Given the description of an element on the screen output the (x, y) to click on. 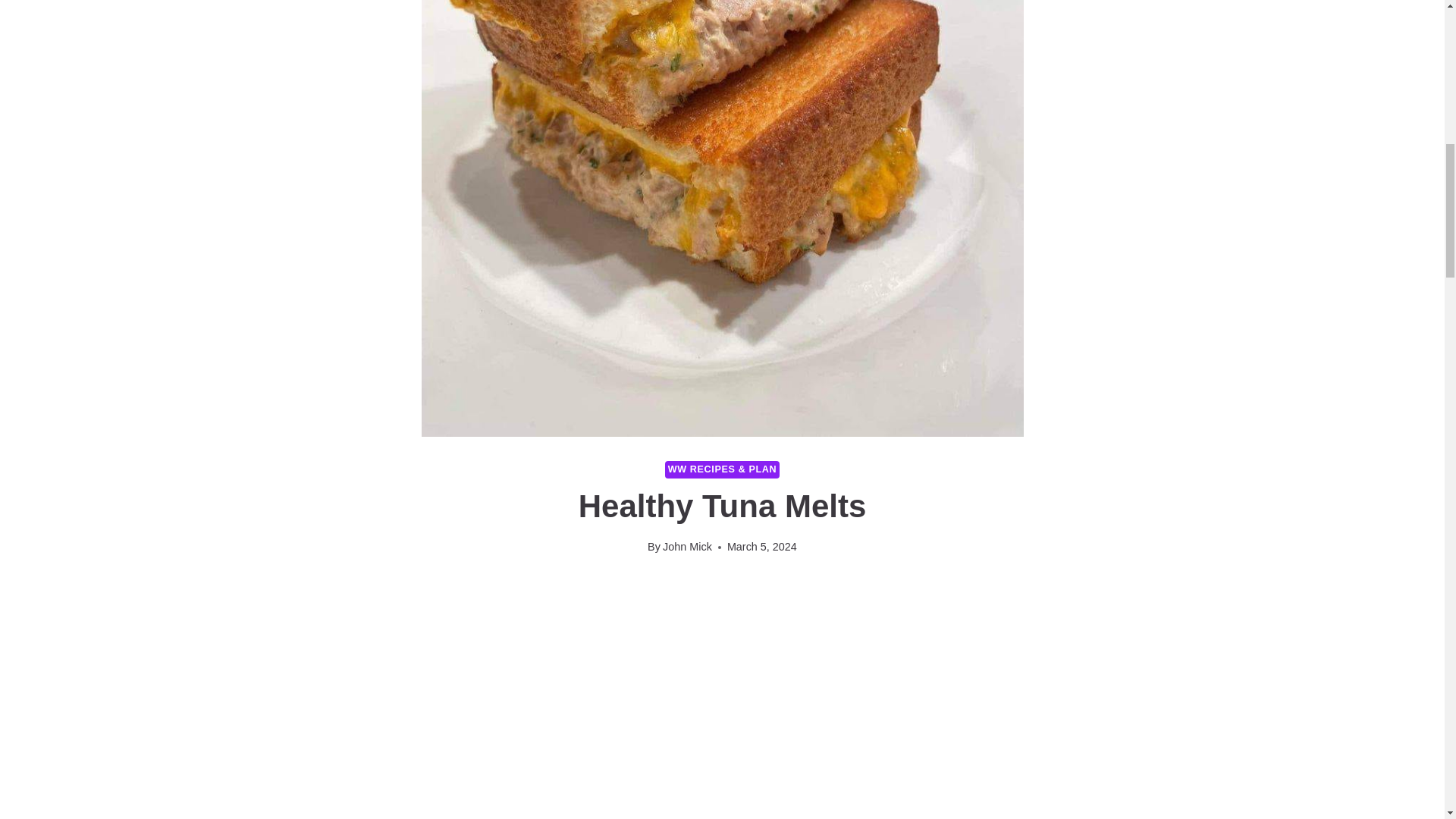
Advertisement (698, 613)
Advertisement (722, 739)
John Mick (686, 546)
